Given the description of an element on the screen output the (x, y) to click on. 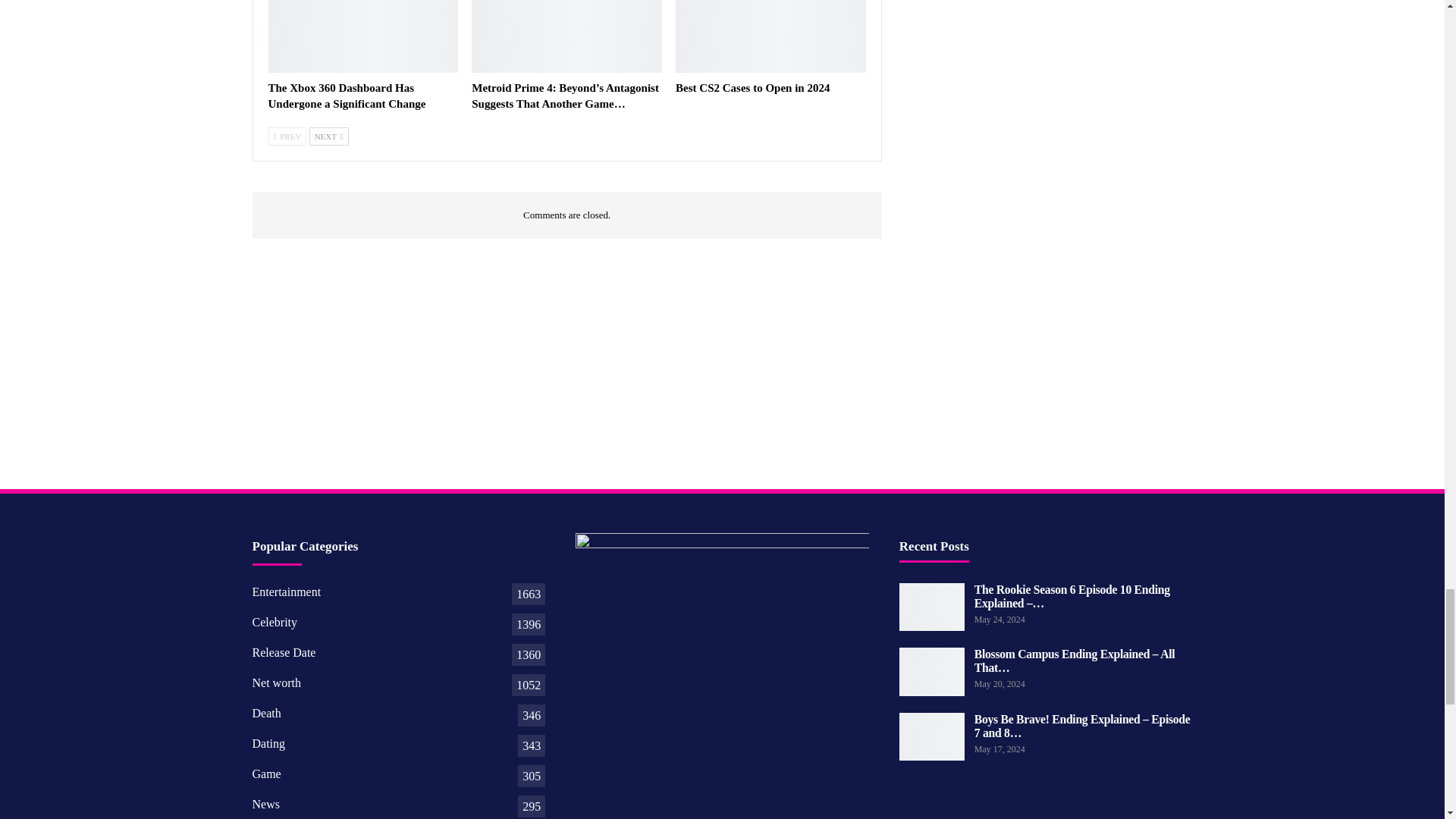
Best CS2 Cases to Open in 2024 (770, 36)
The Xbox 360 Dashboard Has Undergone a Significant Change (362, 36)
The Xbox 360 Dashboard Has Undergone a Significant Change (346, 95)
Best CS2 Cases to Open in 2024 (752, 87)
